Given the description of an element on the screen output the (x, y) to click on. 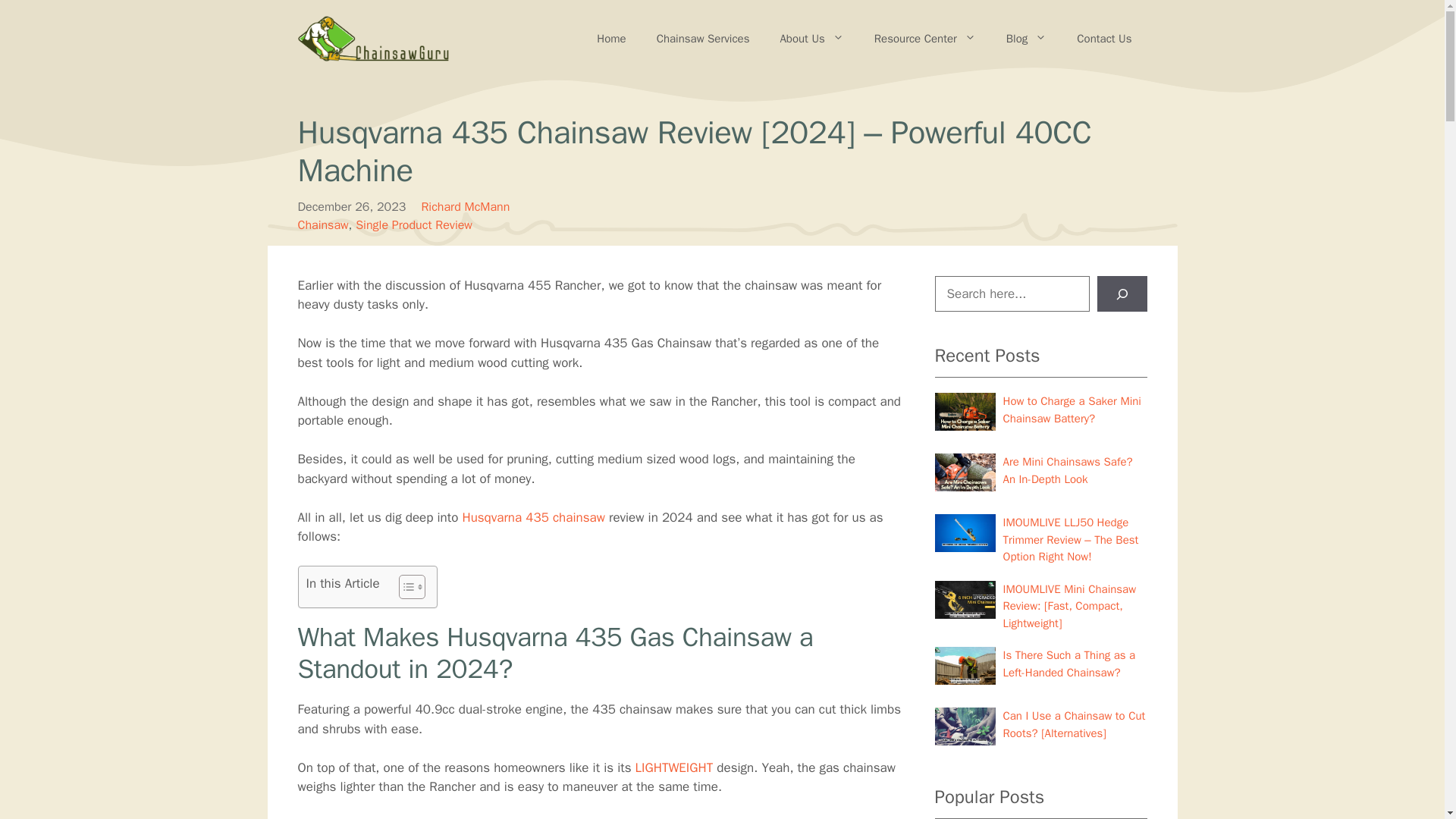
Chainsaw Services (703, 38)
Home (610, 38)
About Us (811, 38)
Blog (1026, 38)
Contact Us (1104, 38)
Resource Center (925, 38)
